Given the description of an element on the screen output the (x, y) to click on. 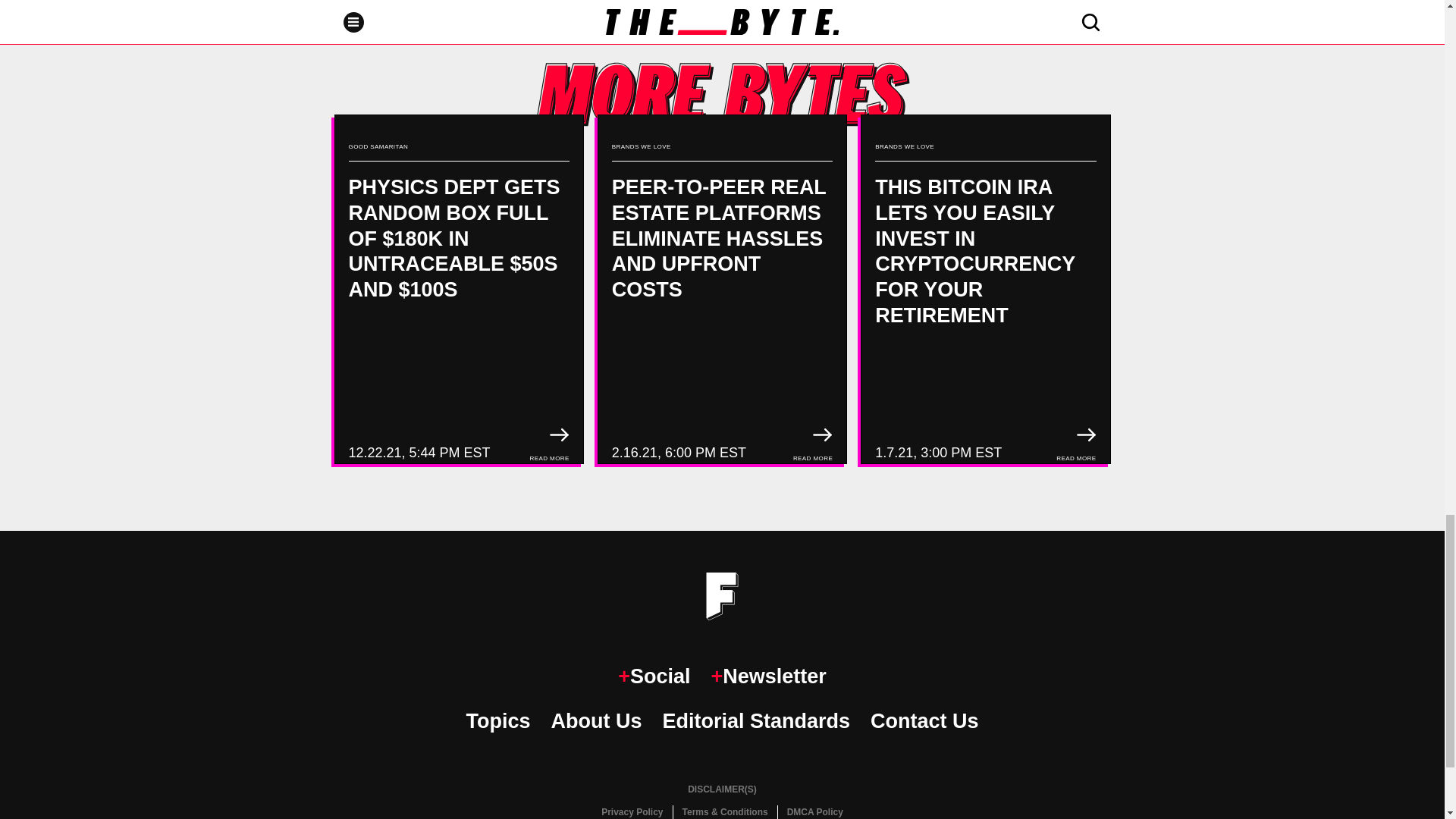
Topics (497, 721)
Privacy Policy (631, 812)
Contact Us (924, 721)
DMCA Policy (814, 812)
Editorial Standards (756, 721)
About Us (596, 721)
